Given the description of an element on the screen output the (x, y) to click on. 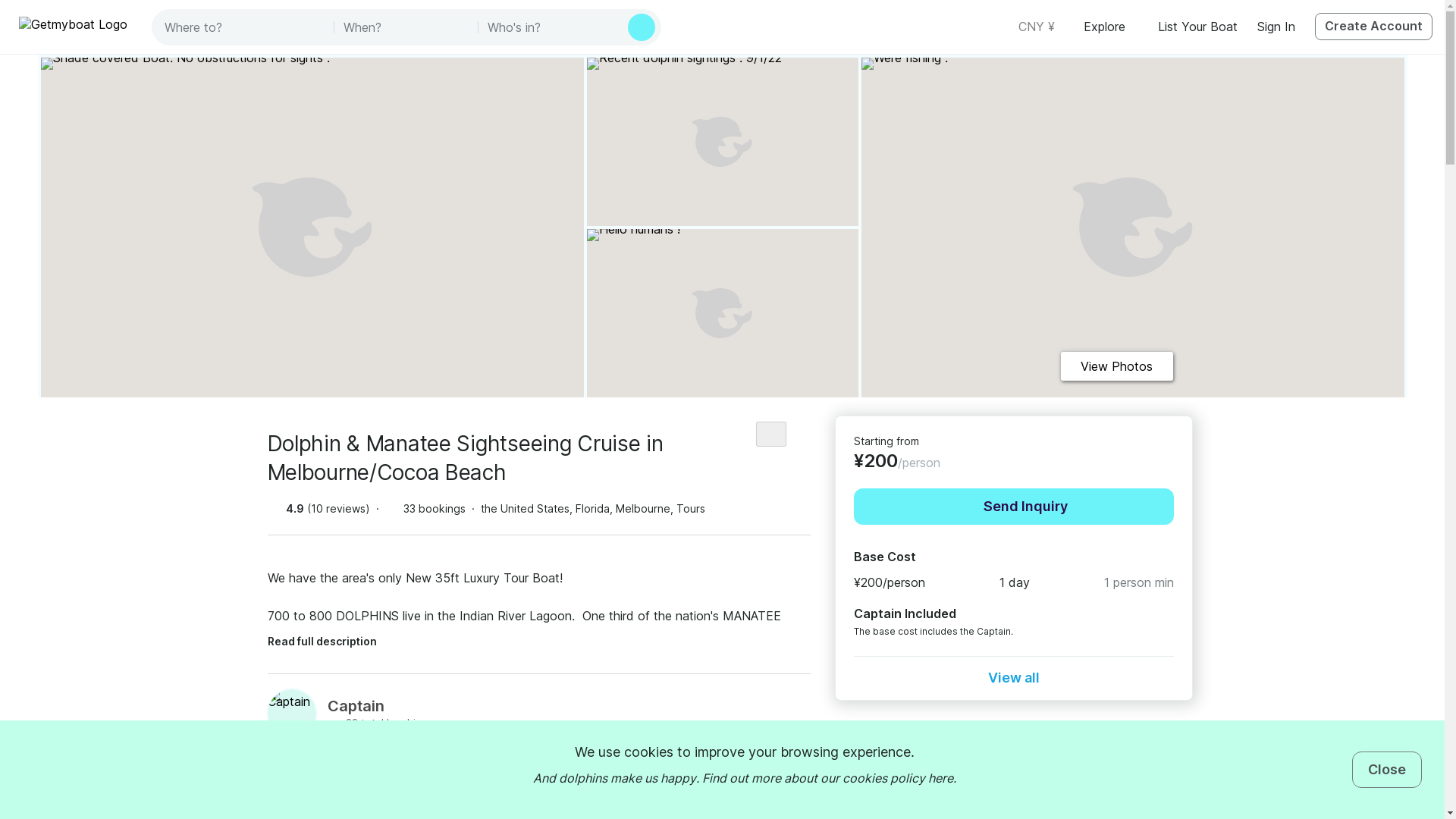
the United States (524, 508)
Close (1387, 769)
List Your Boat (1197, 26)
Search (641, 26)
Florida (591, 508)
Melbourne (642, 508)
cookies policy here (896, 777)
View Photos (1115, 366)
Explore (1109, 25)
Read full description (331, 637)
Sign In (1276, 26)
Create Account (1373, 26)
